Given the description of an element on the screen output the (x, y) to click on. 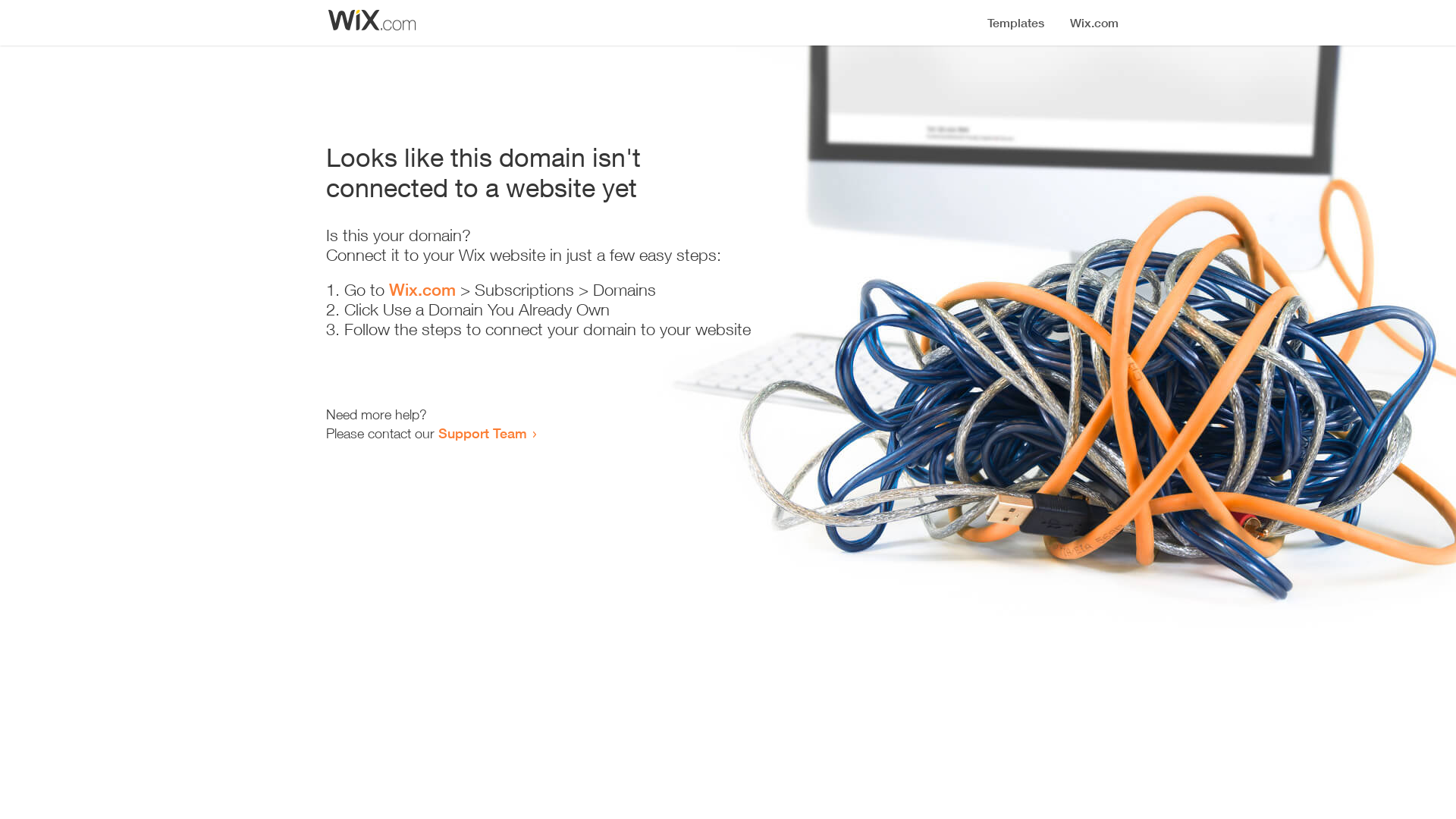
Support Team Element type: text (482, 432)
Wix.com Element type: text (422, 289)
